Given the description of an element on the screen output the (x, y) to click on. 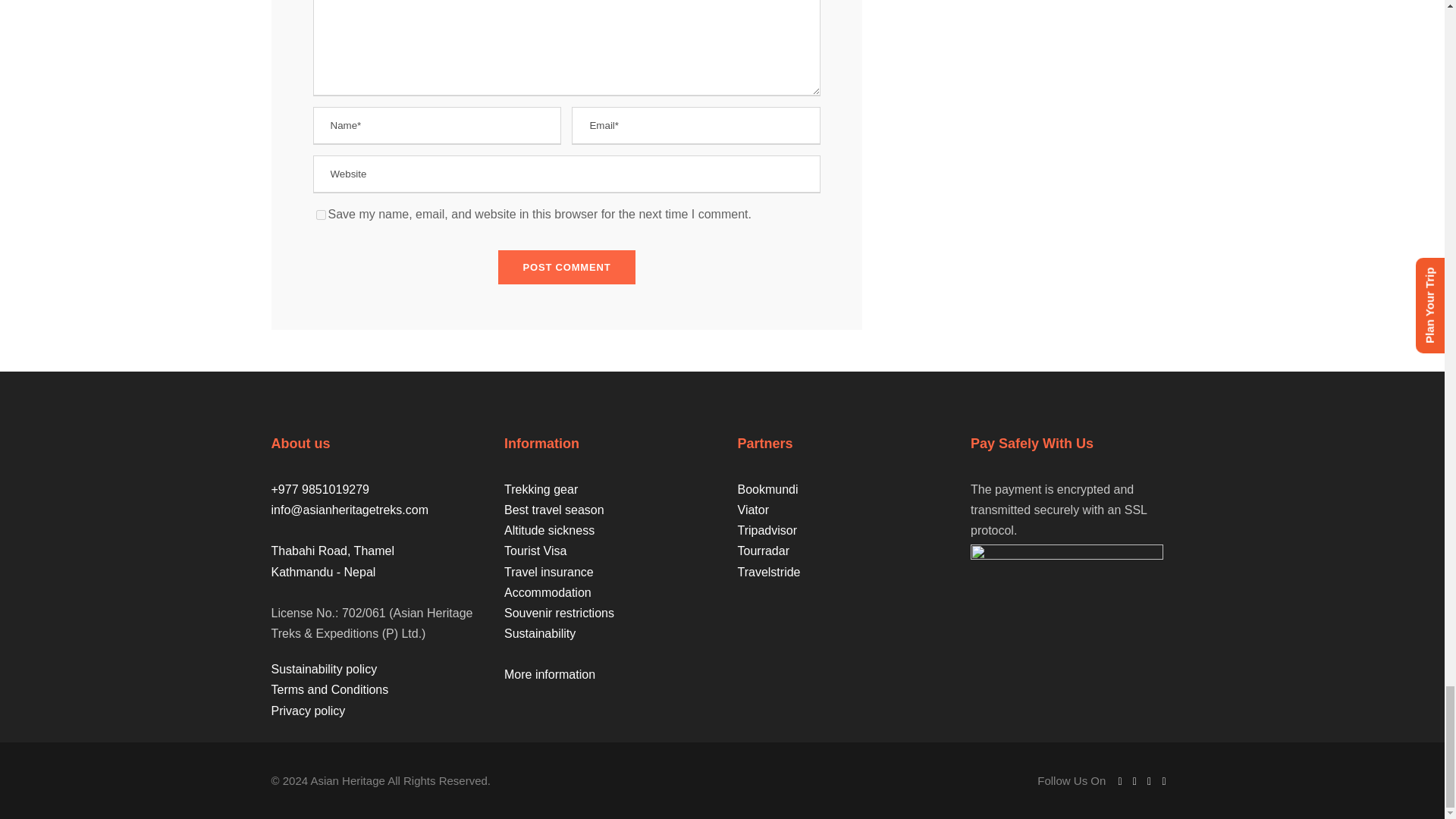
Post Comment (566, 267)
yes (319, 214)
